Given the description of an element on the screen output the (x, y) to click on. 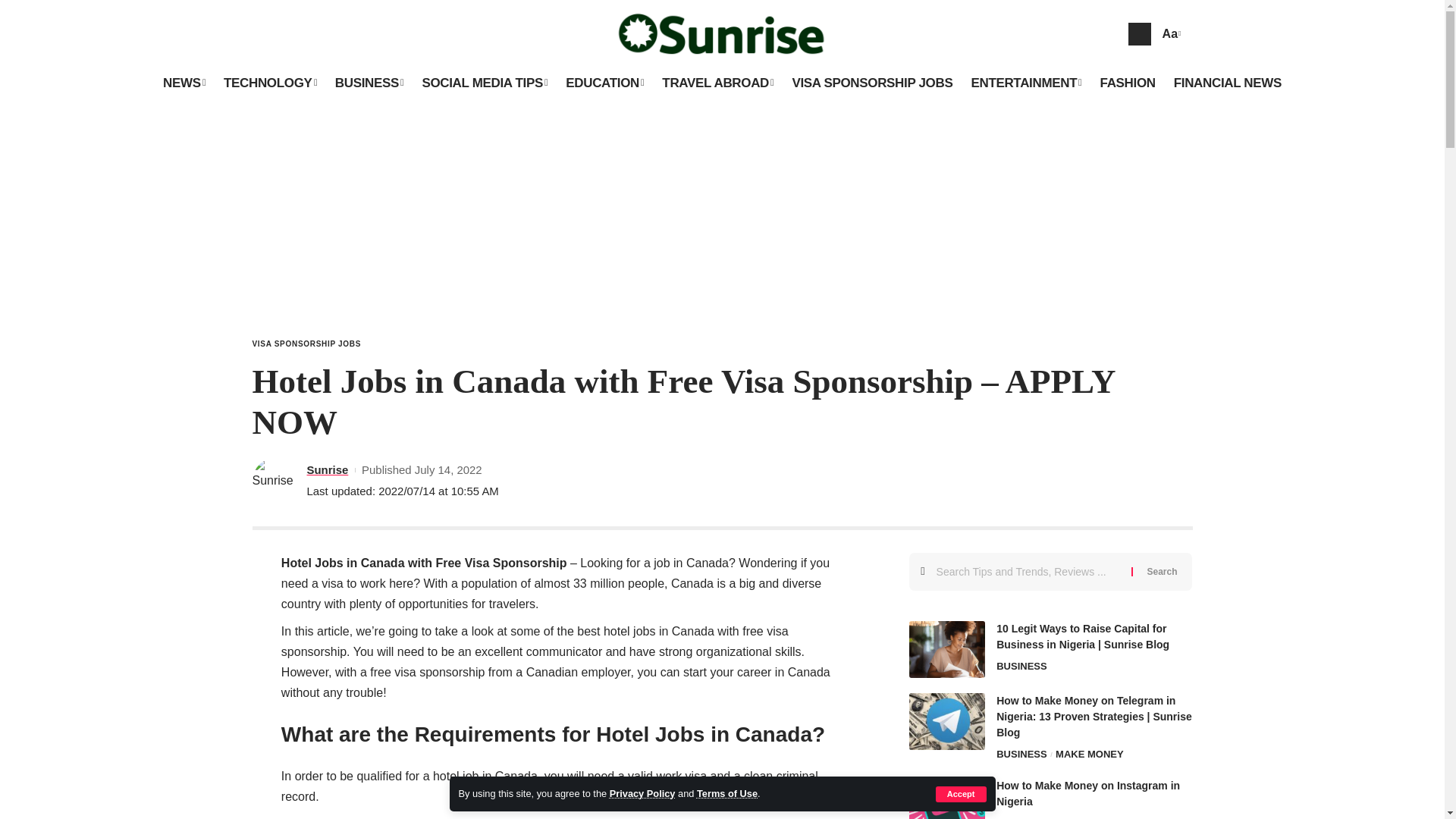
SunRise (722, 33)
NEWS (184, 82)
Aa (1169, 33)
TECHNOLOGY (270, 82)
Terms of Use (727, 793)
Accept (961, 794)
Privacy Policy (642, 793)
BUSINESS (369, 82)
Search (1161, 571)
